Given the description of an element on the screen output the (x, y) to click on. 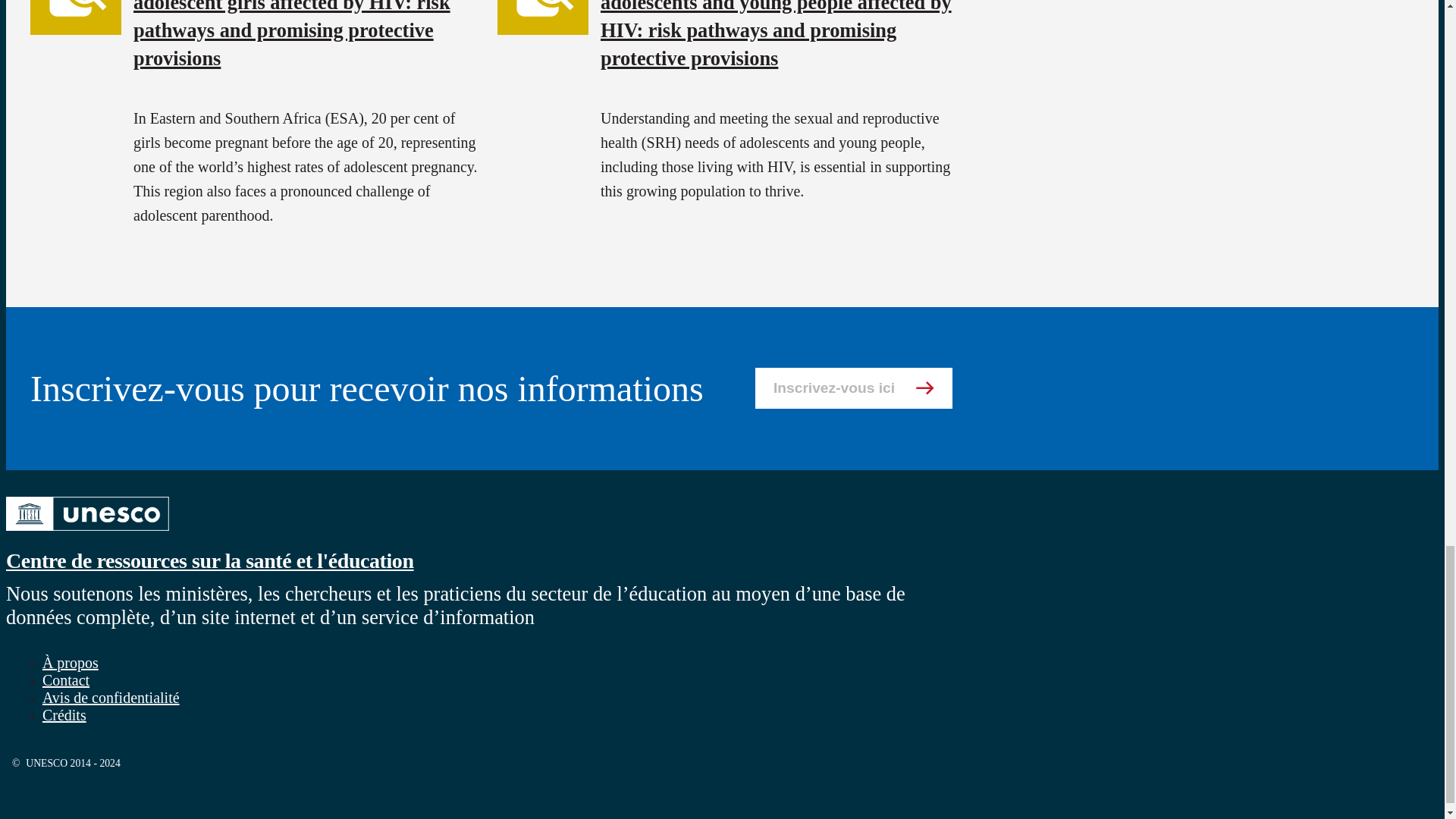
Home (86, 532)
Home (209, 560)
